Given the description of an element on the screen output the (x, y) to click on. 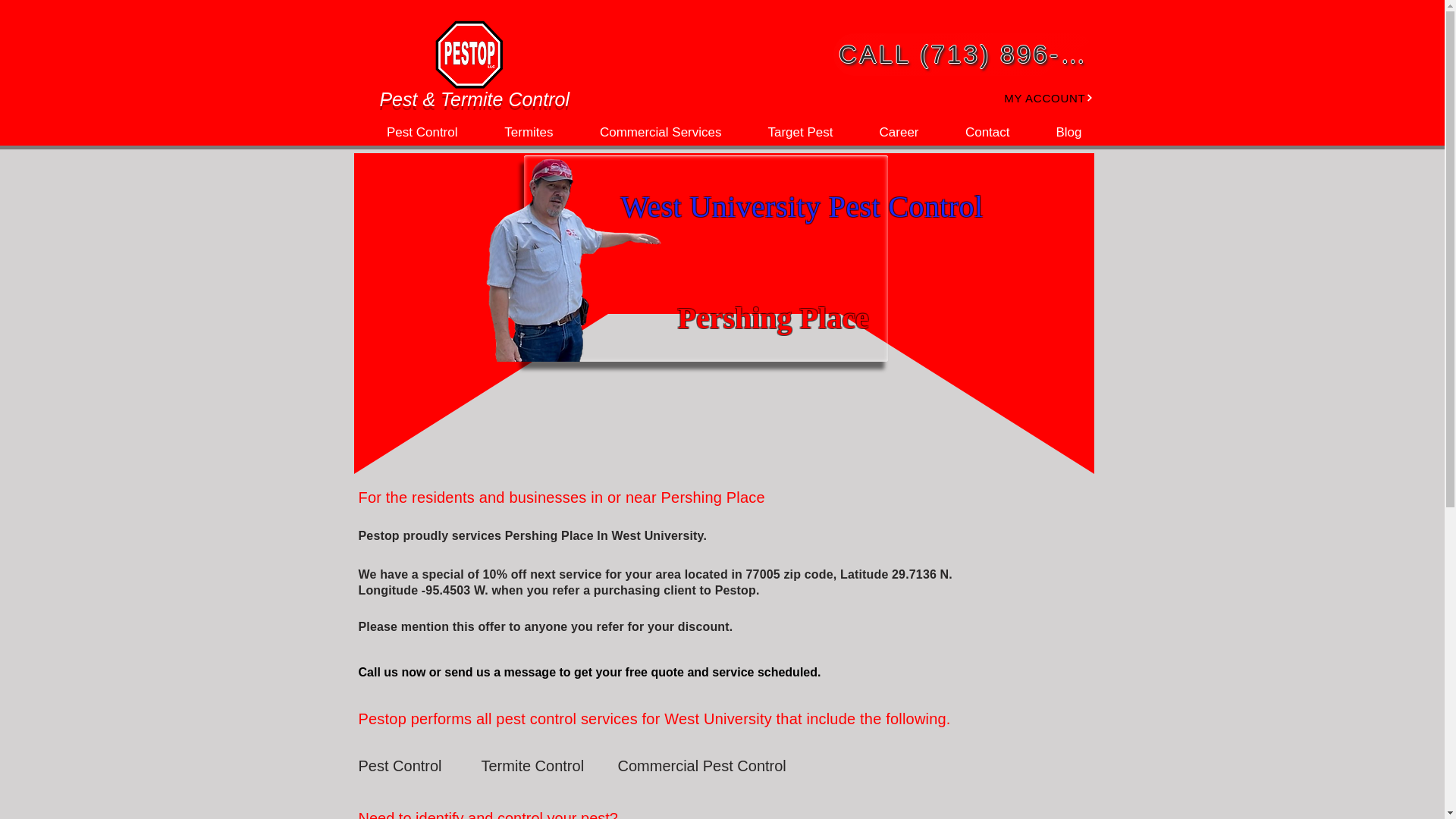
MY ACCOUNT (1033, 97)
Target Pest (788, 131)
Termites (516, 131)
Career (887, 131)
Pest Control (411, 766)
Termite Control (534, 766)
Need to identify and control your pest? (496, 811)
Blog (1056, 131)
Commercial Services (648, 131)
Contact (975, 131)
Commercial Pest Control (701, 766)
Pest Control (409, 131)
